Given the description of an element on the screen output the (x, y) to click on. 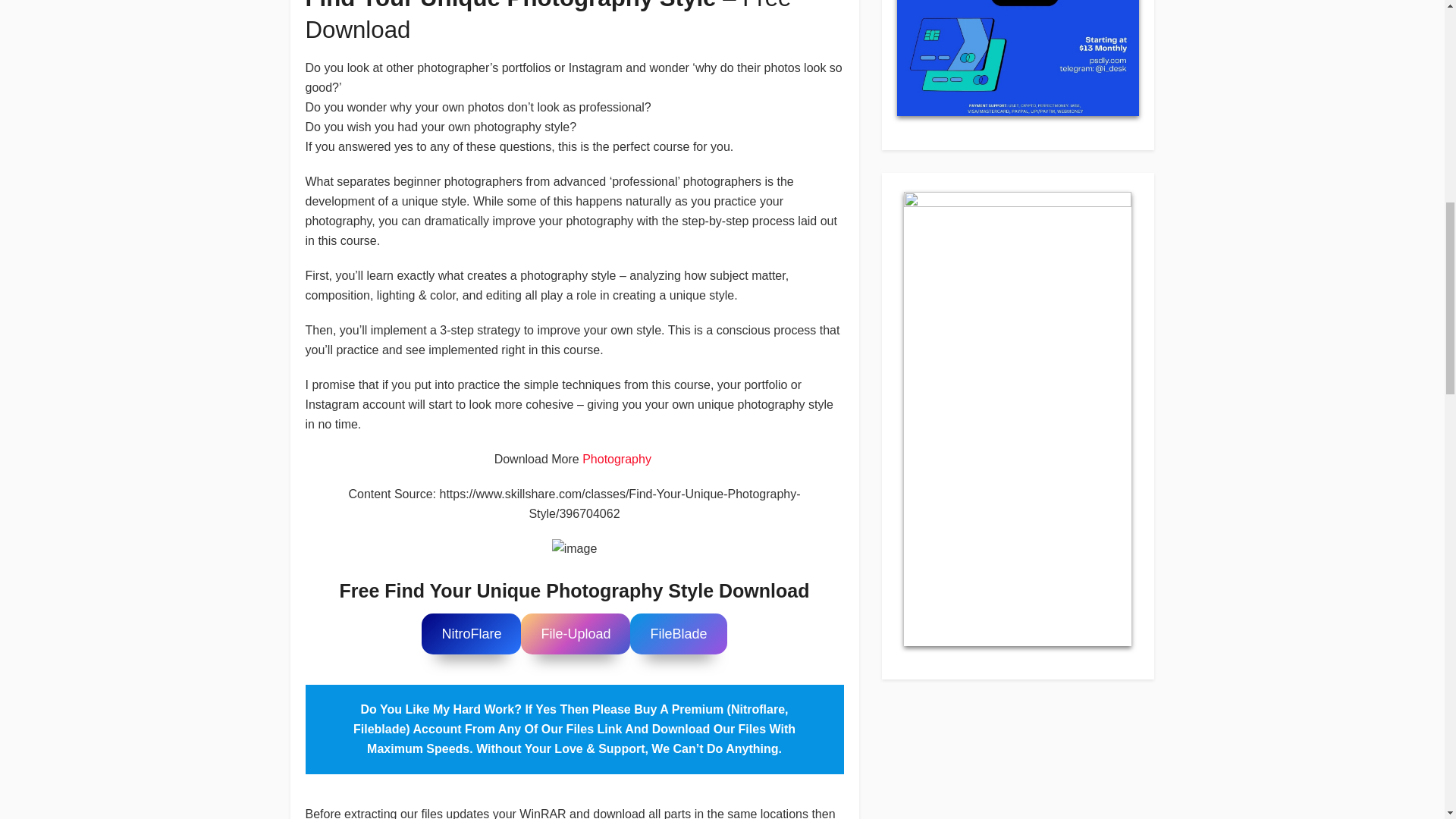
Find Your Unique Photography Style 2 (573, 548)
